Given the description of an element on the screen output the (x, y) to click on. 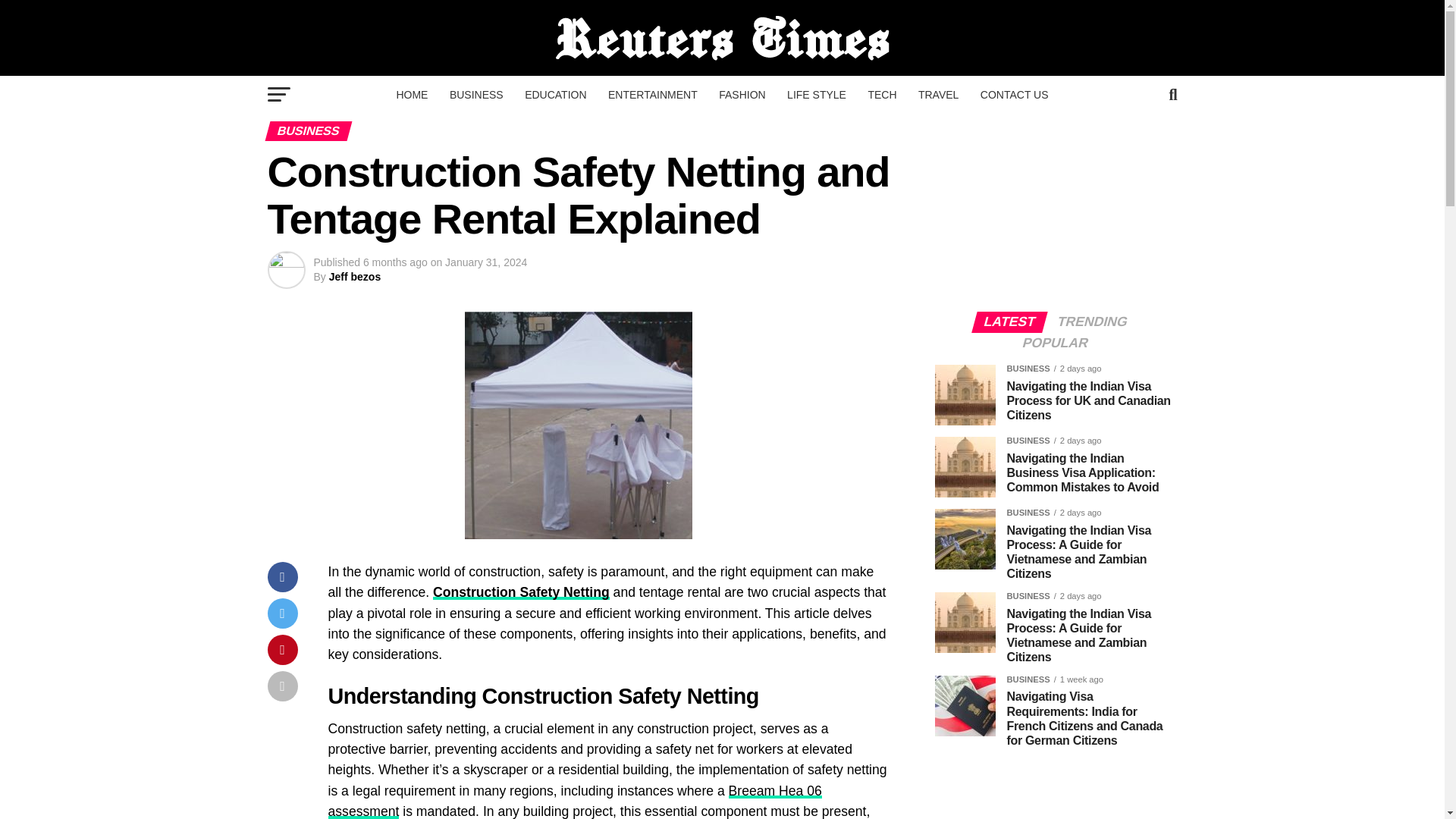
HOME (411, 94)
Posts by Jeff bezos (354, 276)
EDUCATION (555, 94)
FASHION (742, 94)
BUSINESS (476, 94)
LIFE STYLE (816, 94)
ENTERTAINMENT (652, 94)
